Given the description of an element on the screen output the (x, y) to click on. 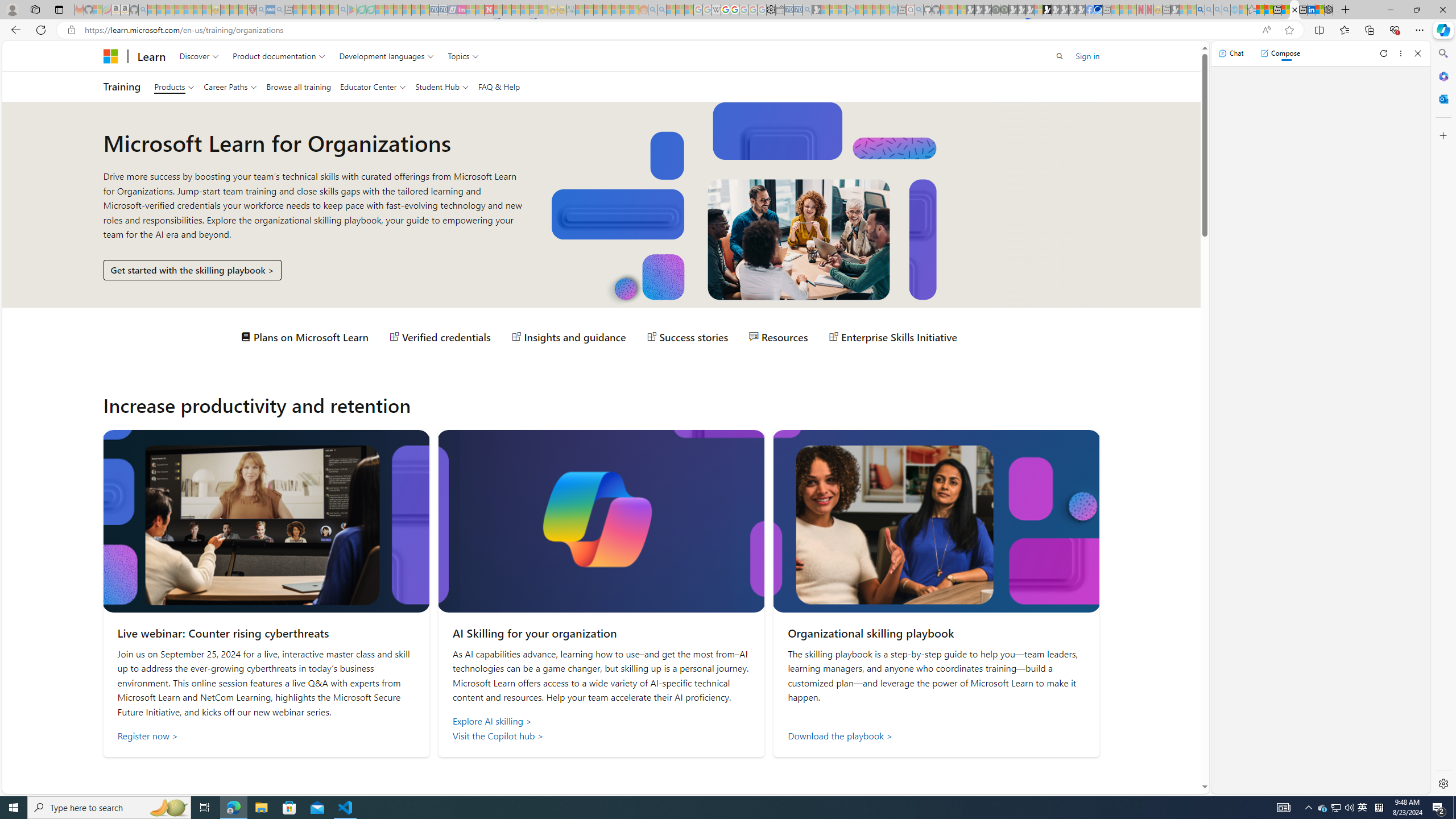
utah sues federal government - Search - Sleeping (279, 9)
Career Paths (230, 86)
Bing AI - Search (1200, 9)
Nordace - Summer Adventures 2024 (1328, 9)
Topics (462, 55)
Verified credentials (440, 336)
Educator Center (372, 86)
